Given the description of an element on the screen output the (x, y) to click on. 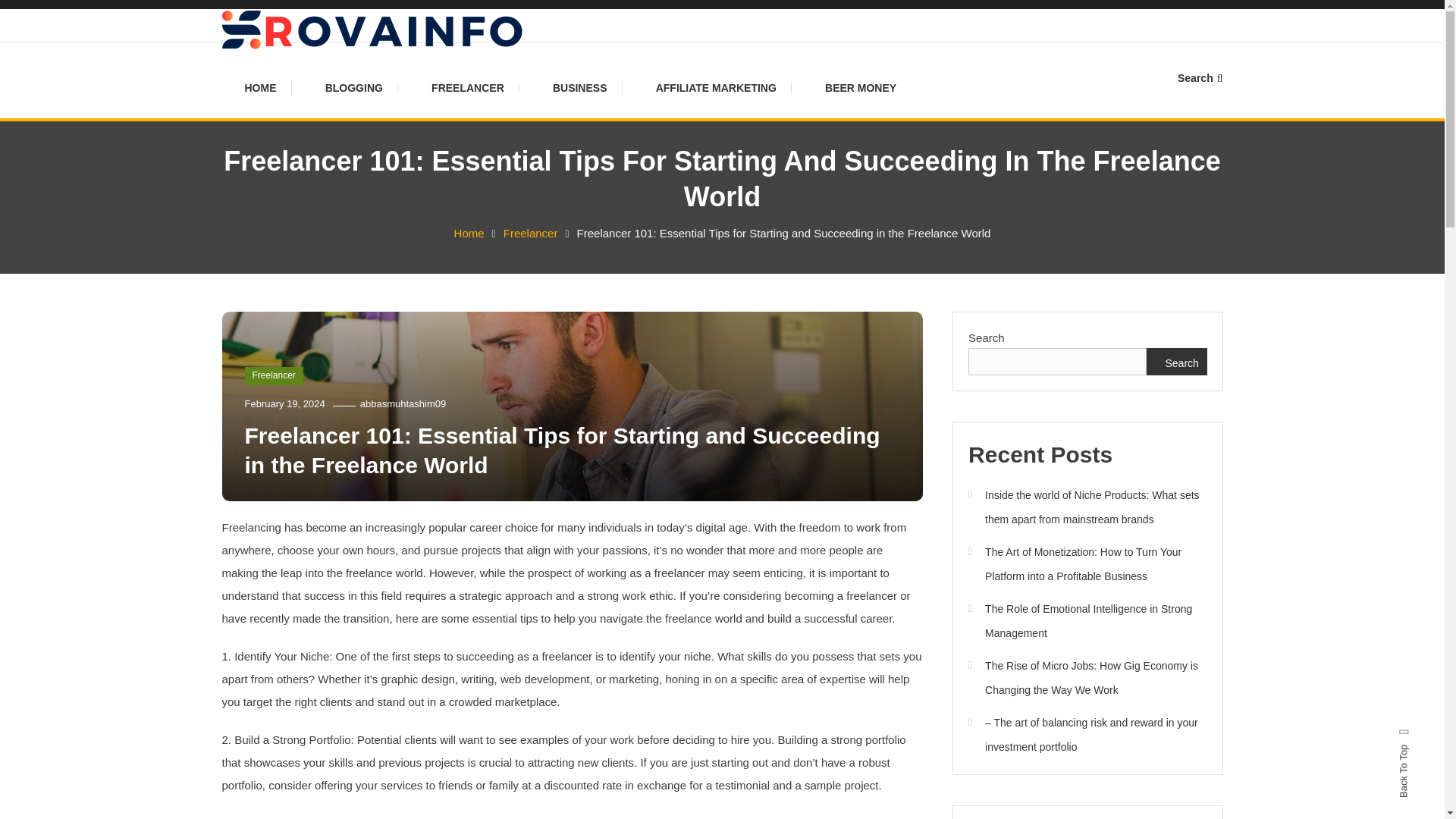
Rovainfo (279, 70)
Home (469, 232)
HOME (267, 87)
abbasmuhtashim09 (402, 403)
Search (768, 432)
BLOGGING (353, 87)
February 19, 2024 (284, 403)
Freelancer (530, 232)
BUSINESS (580, 87)
FREELANCER (467, 87)
Search (1200, 78)
BEER MONEY (860, 87)
Freelancer (273, 375)
AFFILIATE MARKETING (716, 87)
